Given the description of an element on the screen output the (x, y) to click on. 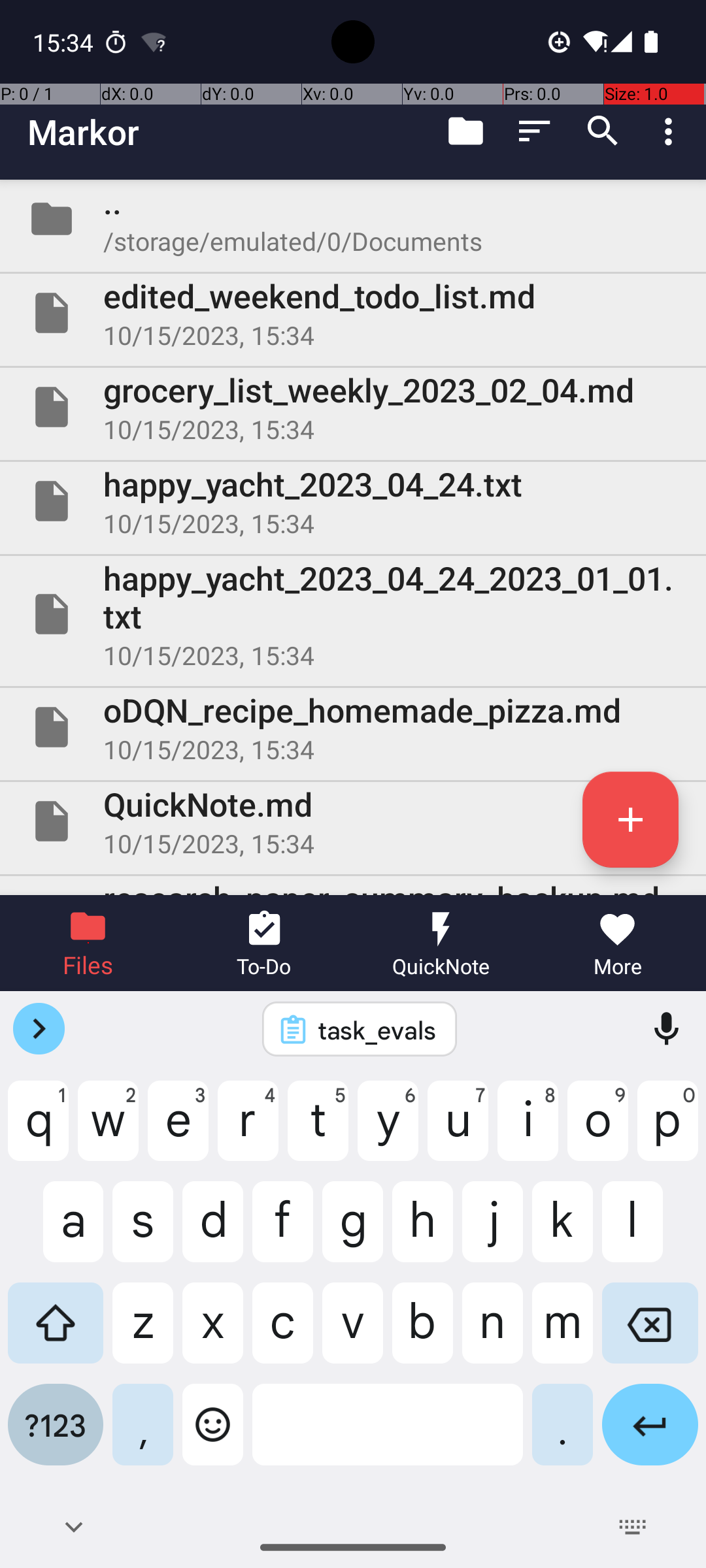
Folder .. 10/15/2023, 15:34 Element type: android.widget.LinearLayout (353, 218)
File edited_weekend_todo_list.md 10/15/2023, 15:34 Element type: android.widget.LinearLayout (353, 312)
File grocery_list_weekly_2023_02_04.md  Element type: android.widget.LinearLayout (353, 406)
File happy_yacht_2023_04_24.txt  Element type: android.widget.LinearLayout (353, 500)
File happy_yacht_2023_04_24_2023_01_01.txt  Element type: android.widget.LinearLayout (353, 613)
File oDQN_recipe_homemade_pizza.md  Element type: android.widget.LinearLayout (353, 726)
File QuickNote.md  Element type: android.widget.LinearLayout (353, 821)
File research_paper_summary_backup.md  Element type: android.widget.LinearLayout (353, 885)
task_evals Element type: android.widget.TextView (376, 1029)
